Given the description of an element on the screen output the (x, y) to click on. 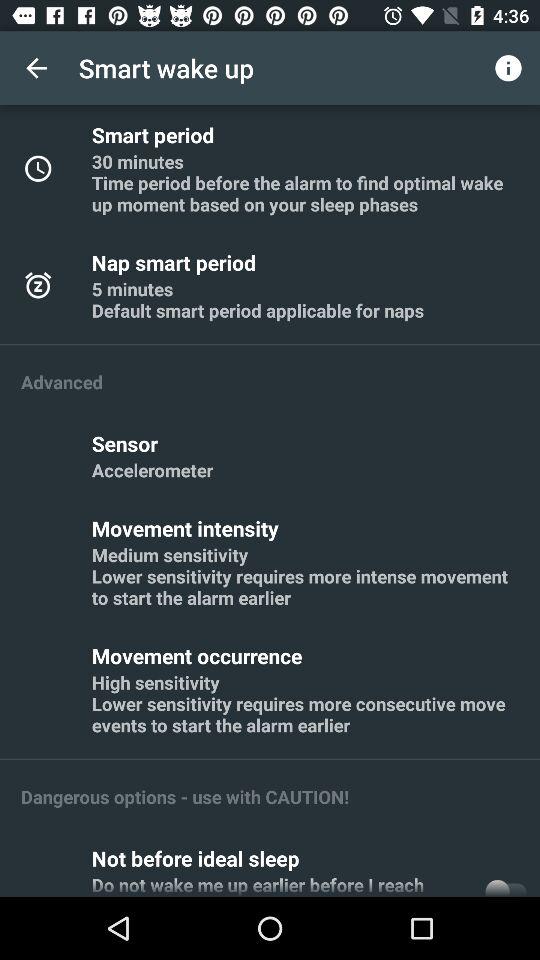
turn on the icon above not before ideal (185, 796)
